Given the description of an element on the screen output the (x, y) to click on. 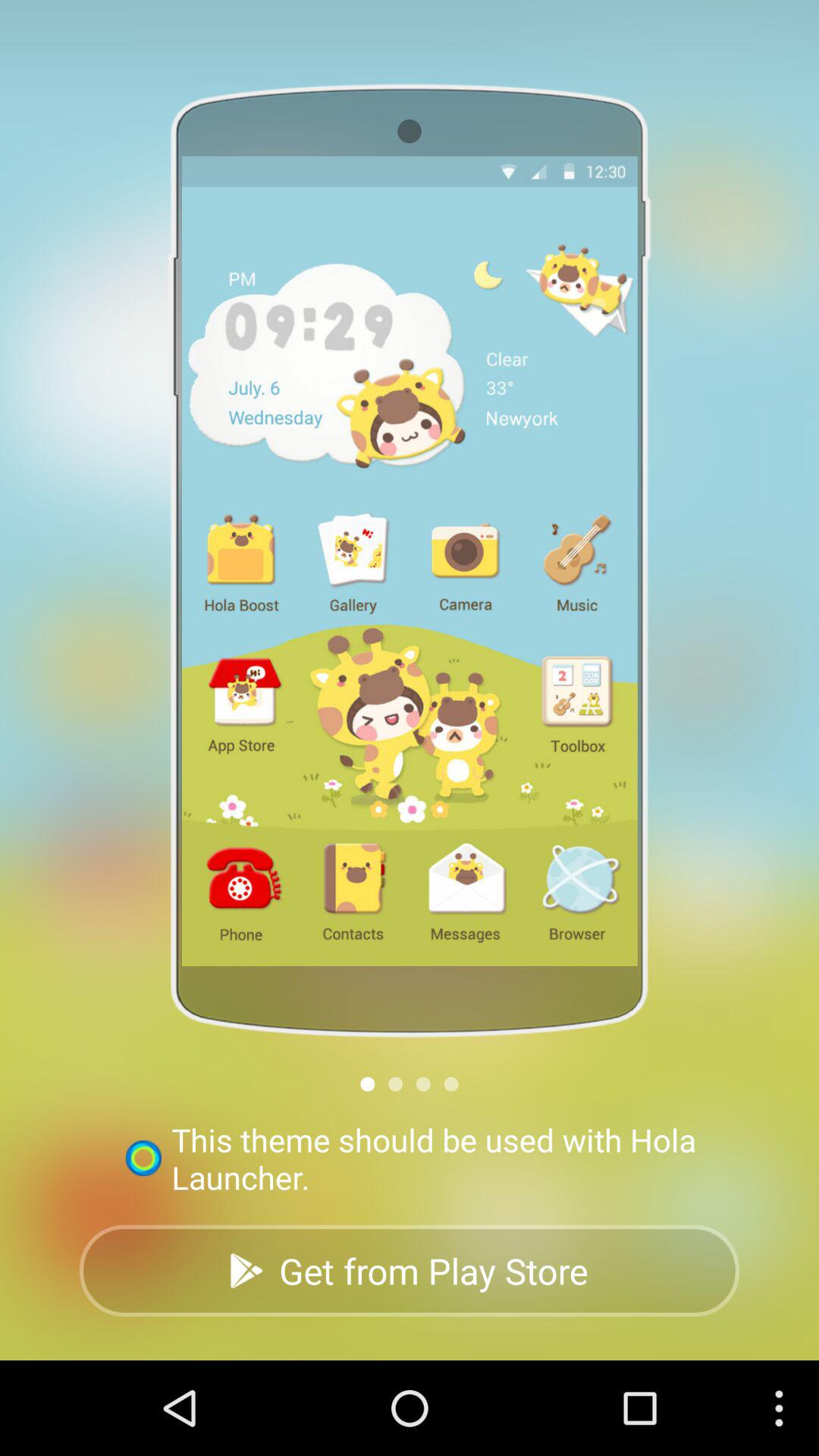
scroll to first screen (367, 1084)
